Given the description of an element on the screen output the (x, y) to click on. 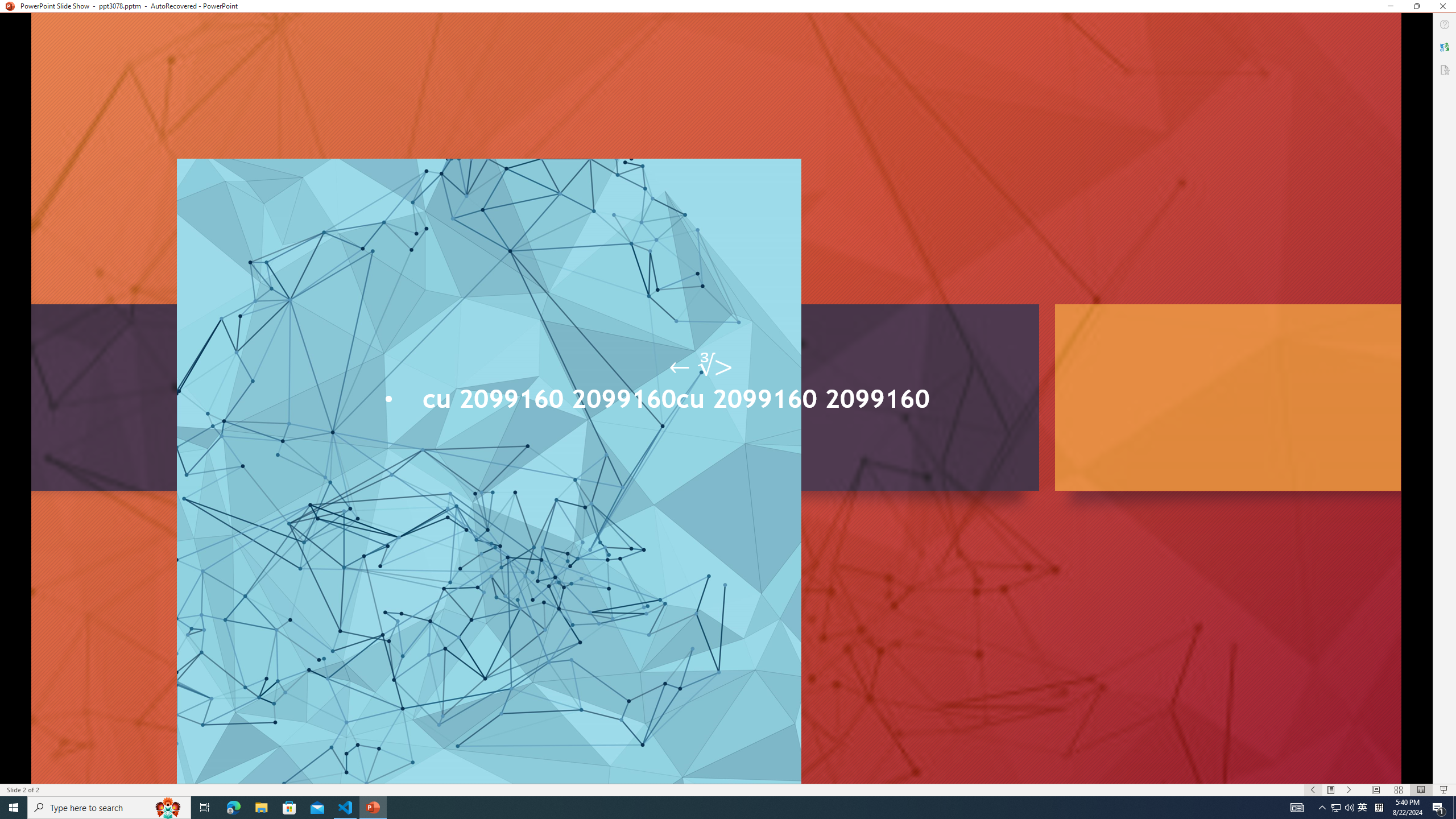
Slide Show Previous On (1313, 790)
Slide Show Next On (1349, 790)
Menu On (1331, 790)
